Given the description of an element on the screen output the (x, y) to click on. 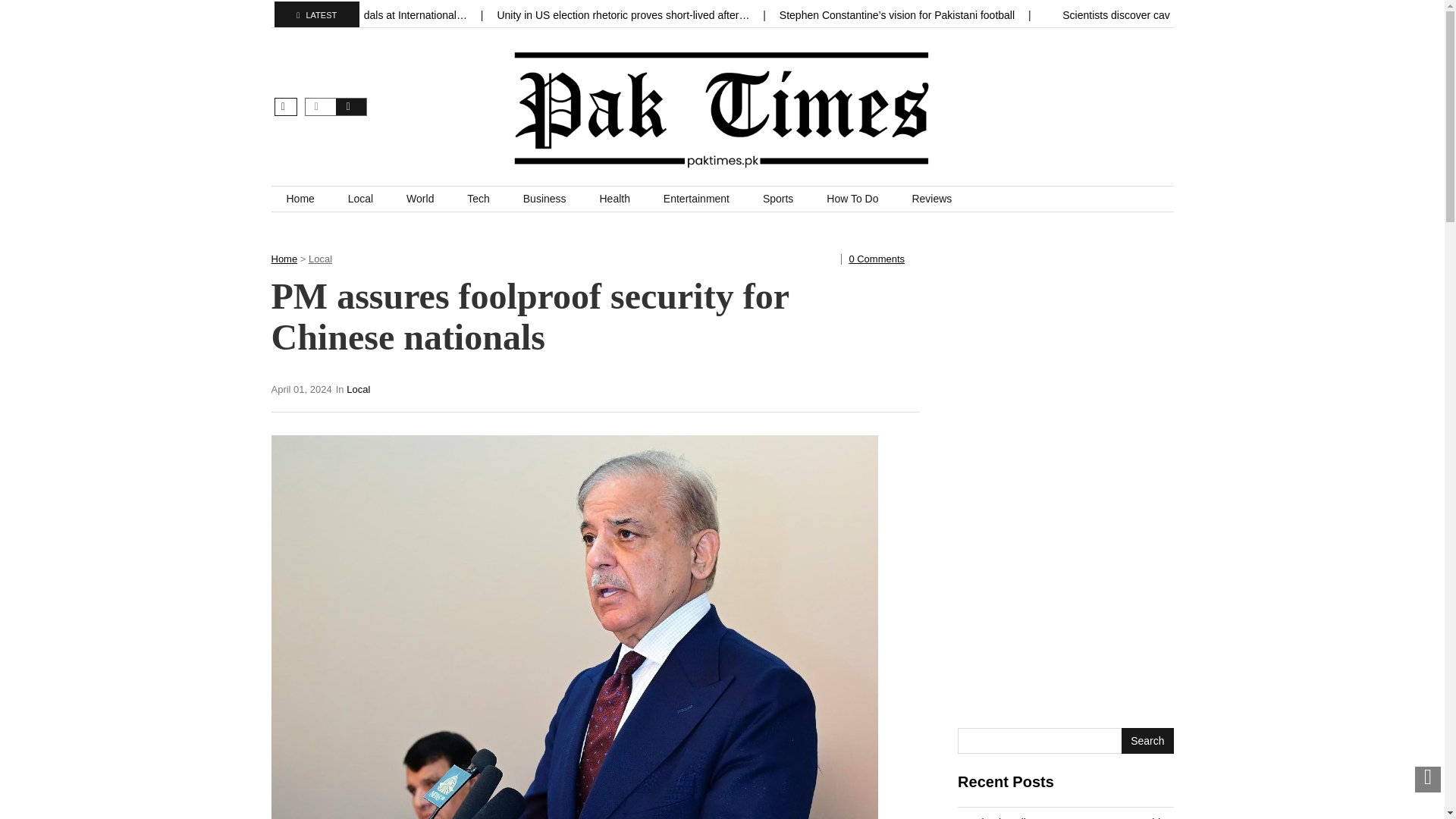
How To Do (851, 198)
Business (544, 198)
Health (614, 198)
Skip to content (306, 193)
Entertainment (695, 198)
0 Comments (876, 258)
Reviews (931, 198)
Sports (778, 198)
Home (284, 258)
Tech (478, 198)
Local (360, 198)
World (419, 198)
Skip to content (306, 193)
Local (357, 389)
Local (319, 258)
